Given the description of an element on the screen output the (x, y) to click on. 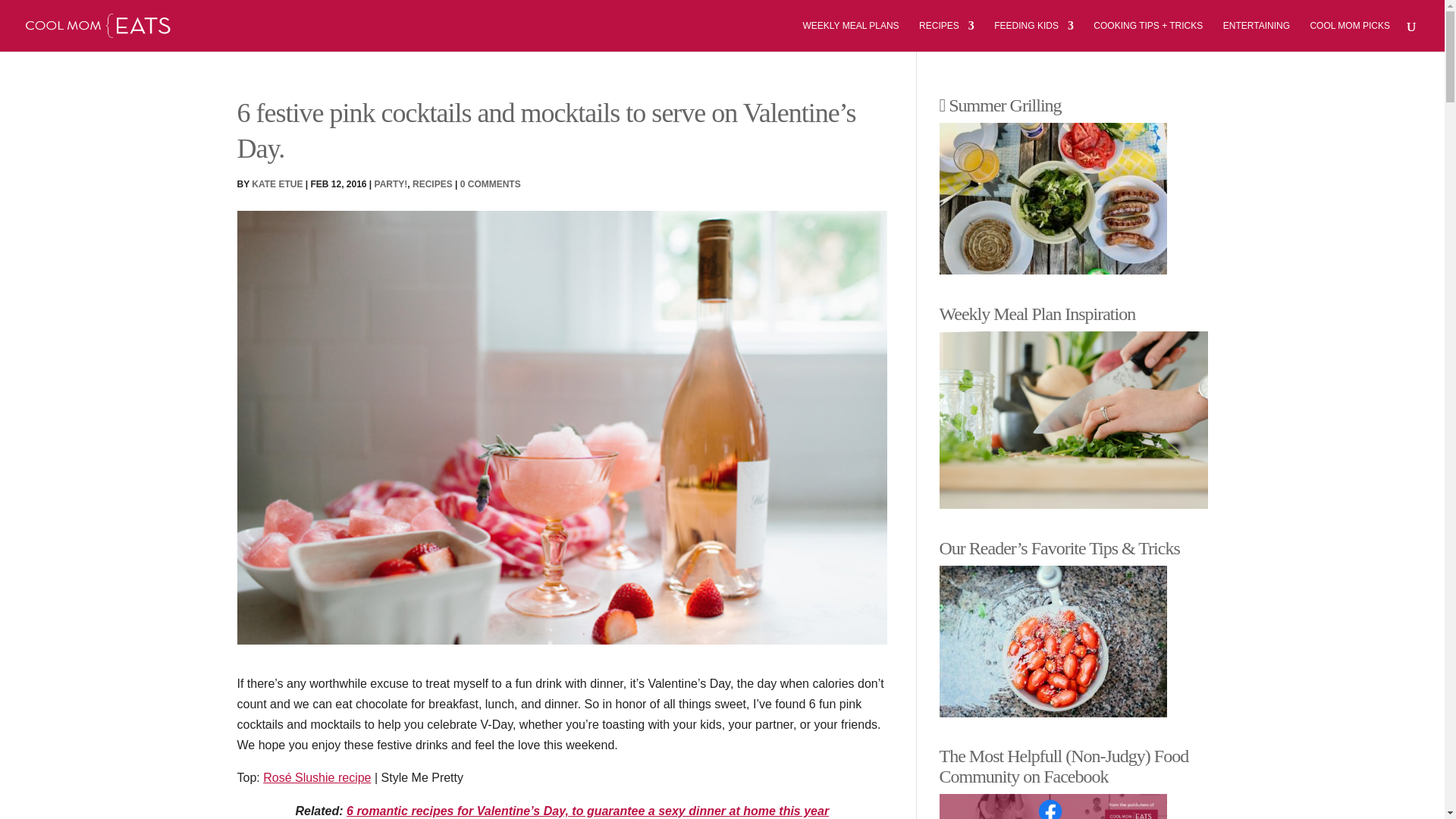
RECIPES (946, 35)
Posts by Kate Etue (276, 184)
COOL MOM PICKS (1349, 35)
KATE ETUE (276, 184)
FEEDING KIDS (1034, 35)
ENTERTAINING (1256, 35)
RECIPES (432, 184)
WEEKLY MEAL PLANS (850, 35)
PARTY! (390, 184)
